Given the description of an element on the screen output the (x, y) to click on. 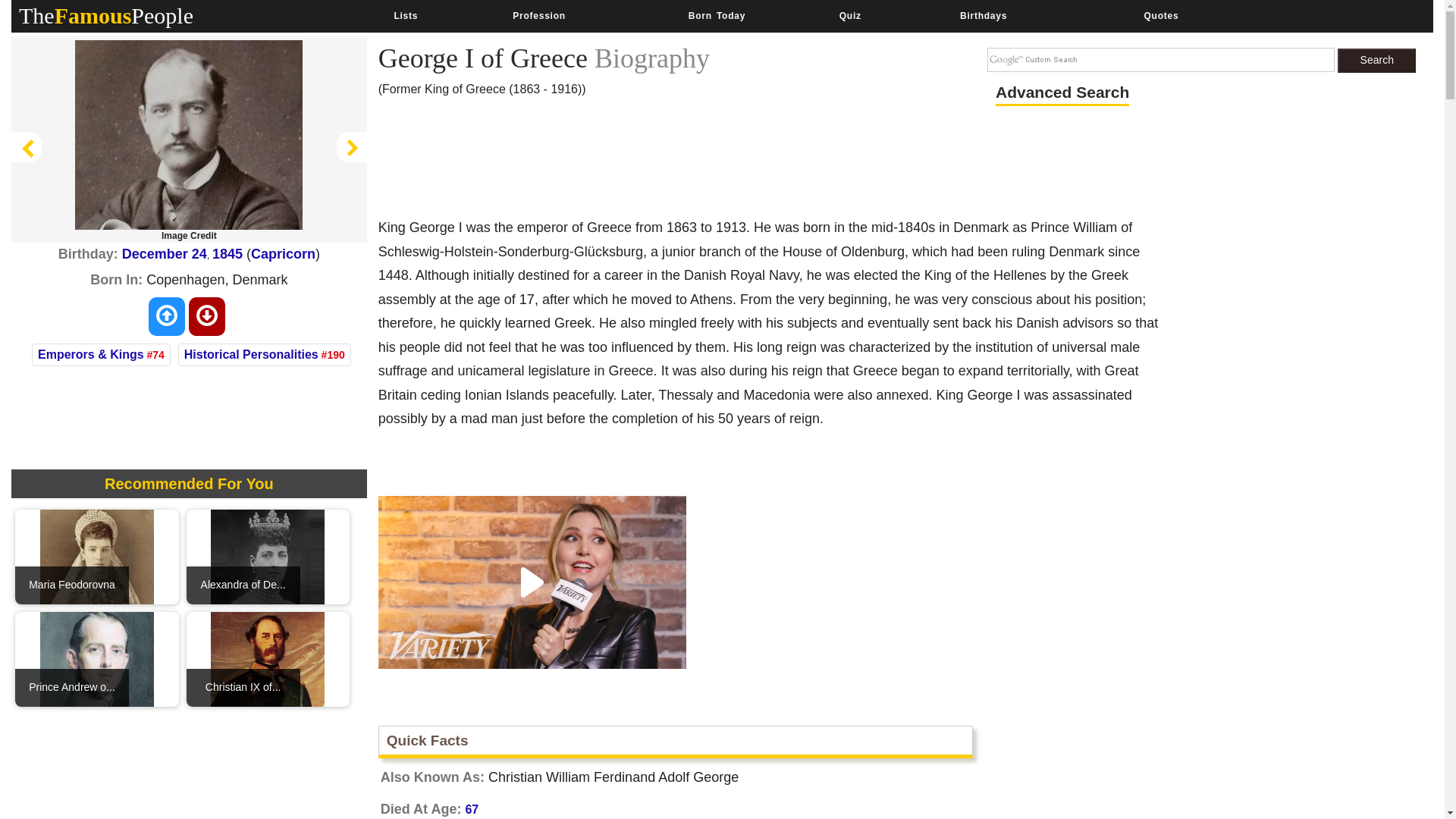
Advertisement (654, 162)
Advertisement (1218, 768)
George I of Greece (188, 135)
Quotes (1160, 15)
December 24 (164, 253)
Search (1376, 60)
Lists (405, 15)
Maria Feodorovna (97, 556)
Born Today (715, 15)
Capricorn (282, 253)
Profession (538, 15)
Birthdays (983, 15)
Alexandra of De... (267, 556)
Search (1376, 60)
Historical Personalities (251, 354)
